Given the description of an element on the screen output the (x, y) to click on. 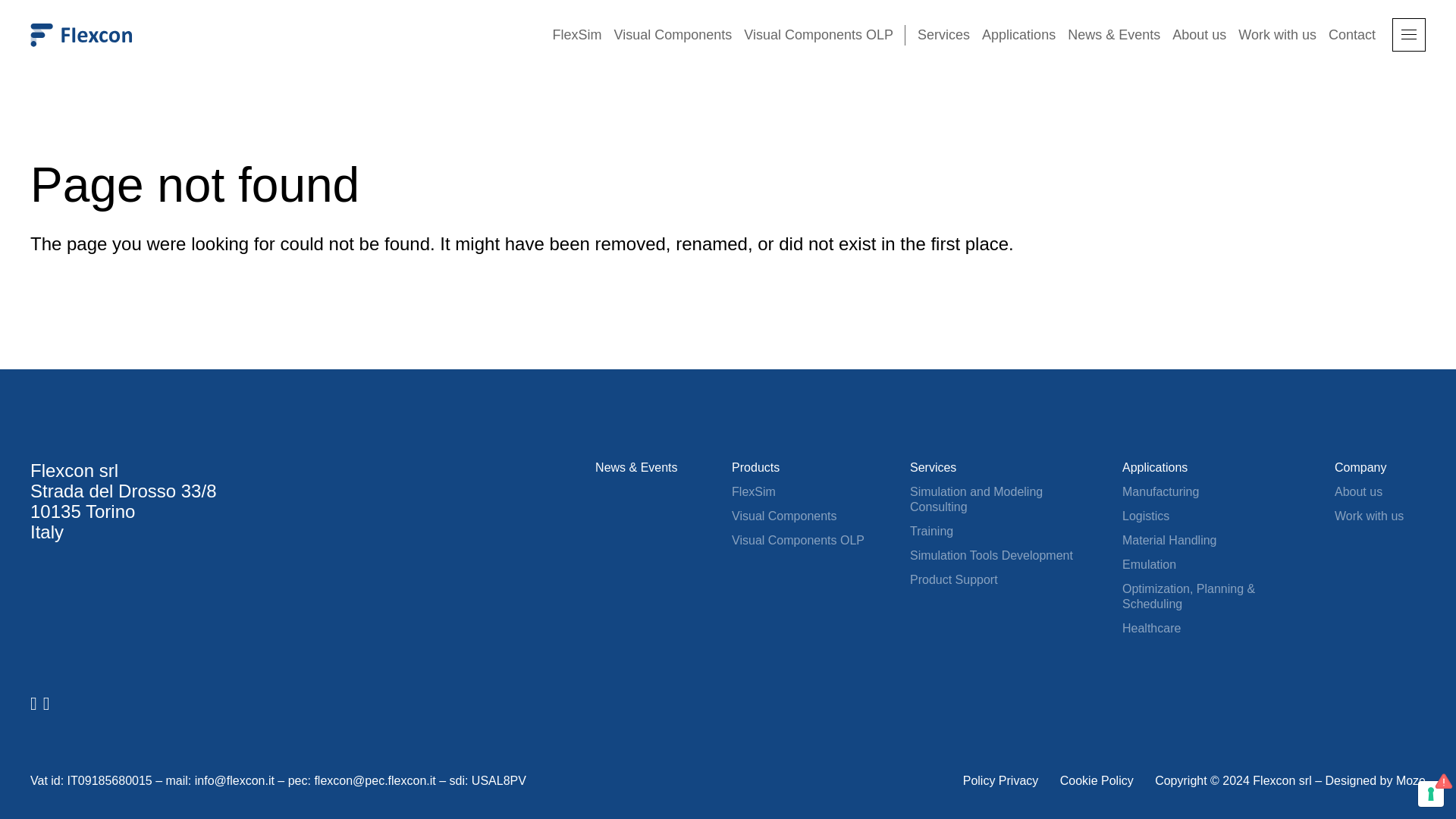
Contact (1351, 34)
Material Handling (1169, 540)
Strada del Dross (97, 490)
Simulation and Modeling Consulting (993, 499)
Italy (47, 531)
FlexSim (754, 491)
Services (933, 467)
Services (943, 34)
FlexSim (576, 34)
Visual Components OLP (798, 540)
Visual Components (673, 34)
Visual Components (783, 516)
Training (931, 531)
Products (755, 467)
Manufacturing (1160, 491)
